Given the description of an element on the screen output the (x, y) to click on. 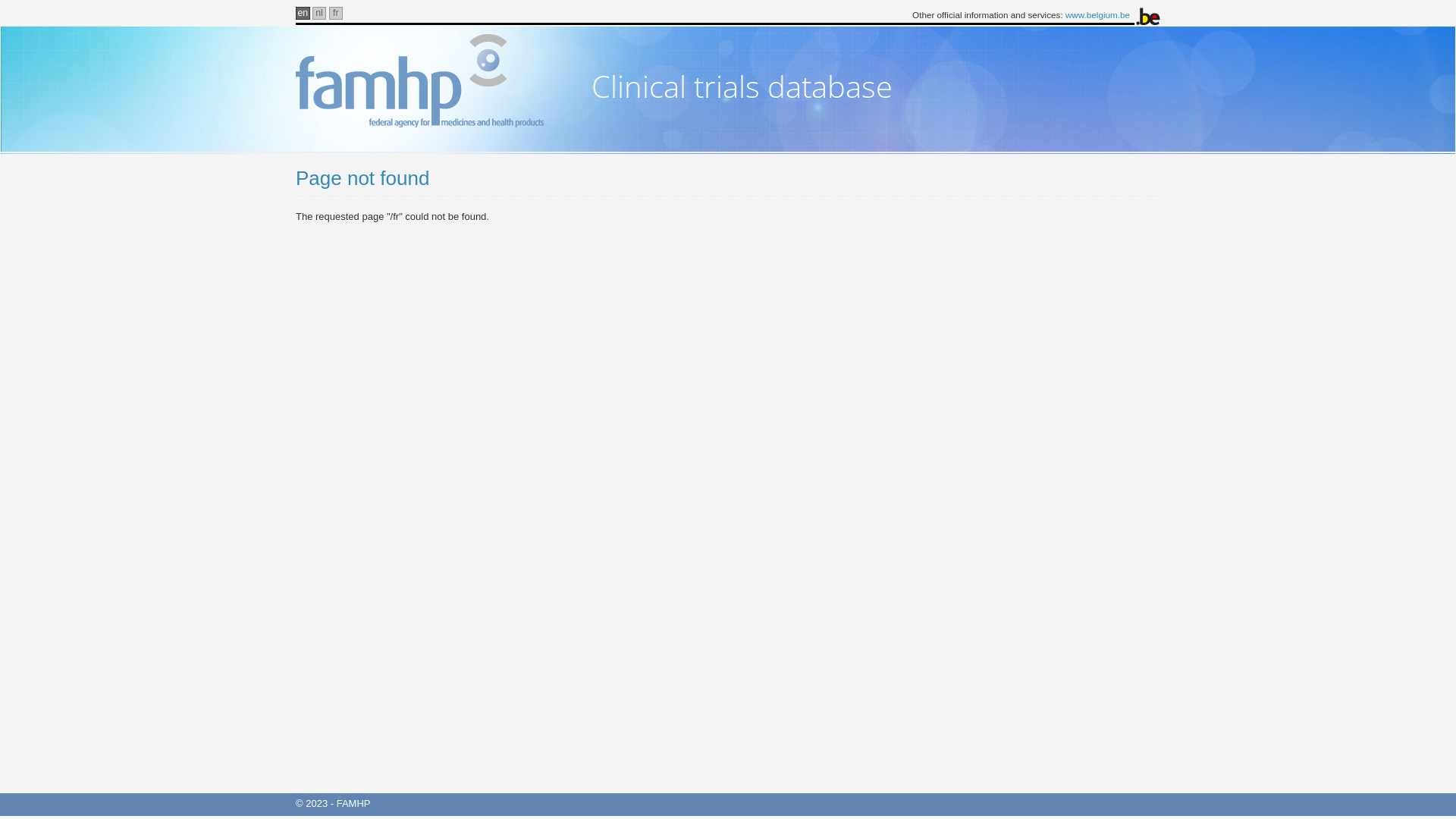
Skip to main content Element type: text (0, 0)
Home Element type: hover (429, 80)
en Element type: text (302, 12)
www.belgium.be
(externe link) Element type: text (1097, 14)
Clinical trials database Element type: text (741, 83)
fr Element type: text (336, 12)
nl Element type: text (319, 12)
